Given the description of an element on the screen output the (x, y) to click on. 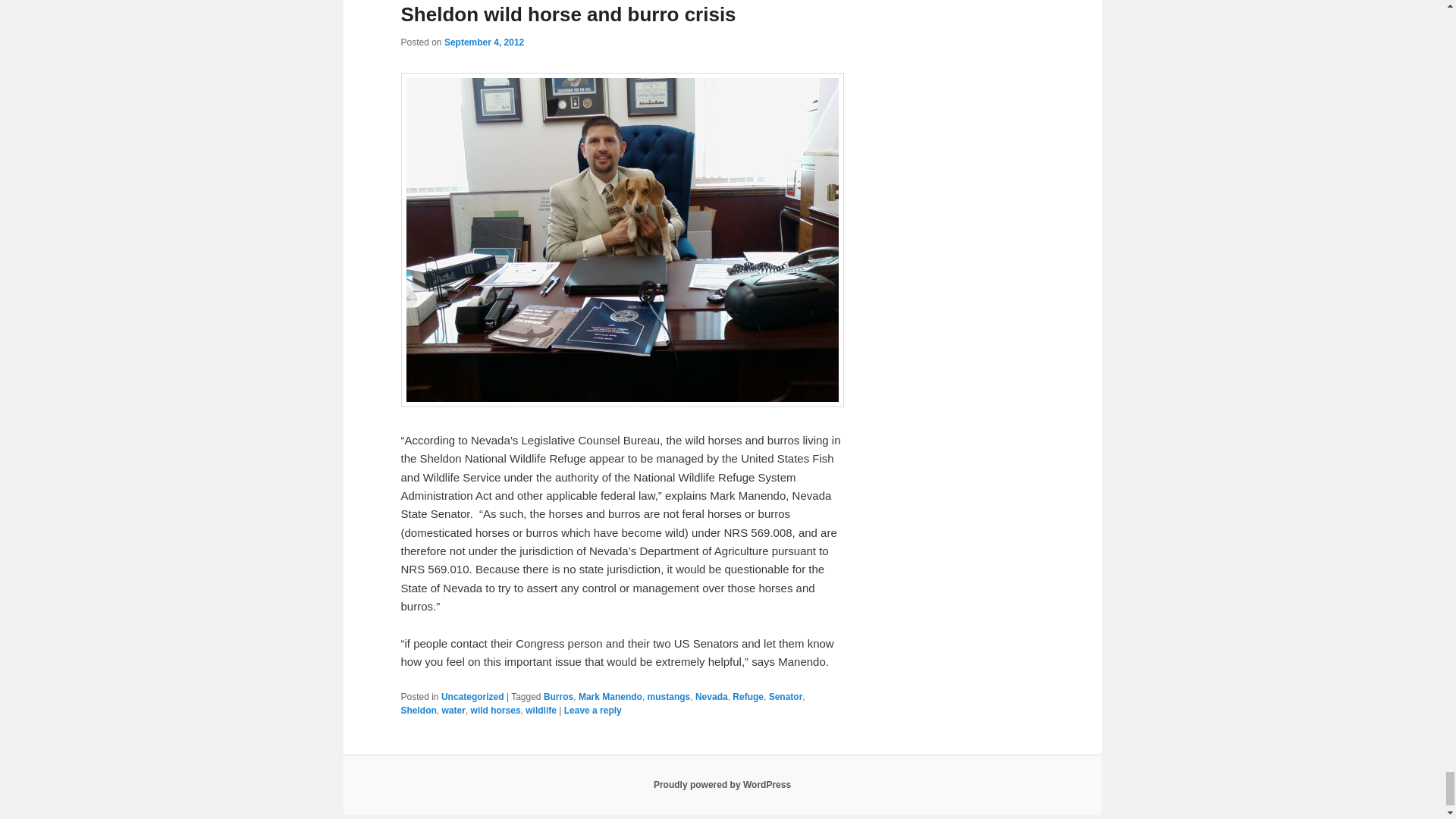
1:15 am (484, 41)
